Given the description of an element on the screen output the (x, y) to click on. 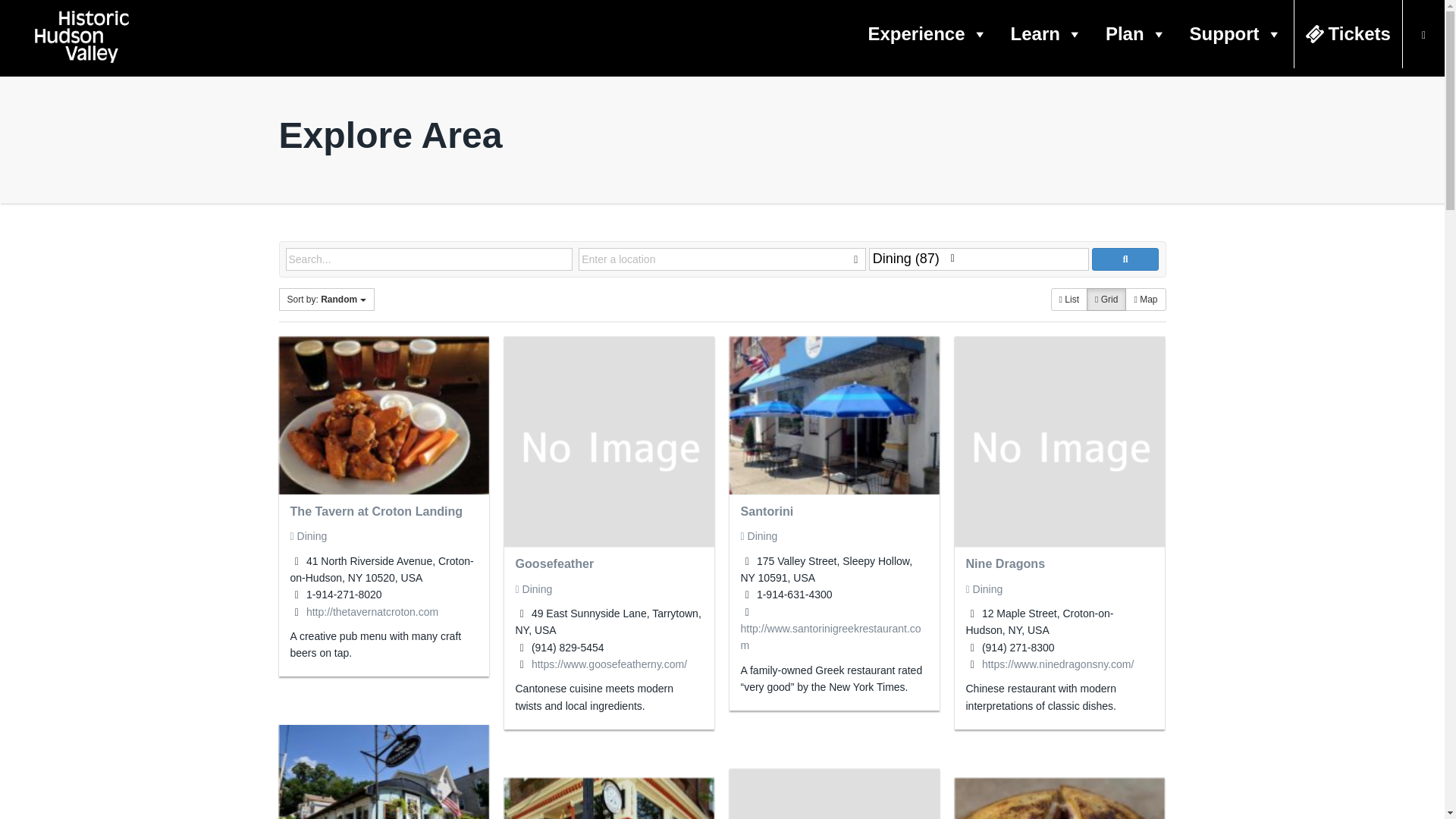
Switch to map view (1145, 299)
Switch to list view (1069, 299)
Learn (1046, 33)
Nine Dragons (1005, 563)
Santorini (766, 510)
Goosefeather (554, 563)
The Tavern at Croton Landing (376, 510)
Support (1235, 33)
Plan (1136, 33)
Experience (927, 33)
Switch to grid view (1105, 299)
